Given the description of an element on the screen output the (x, y) to click on. 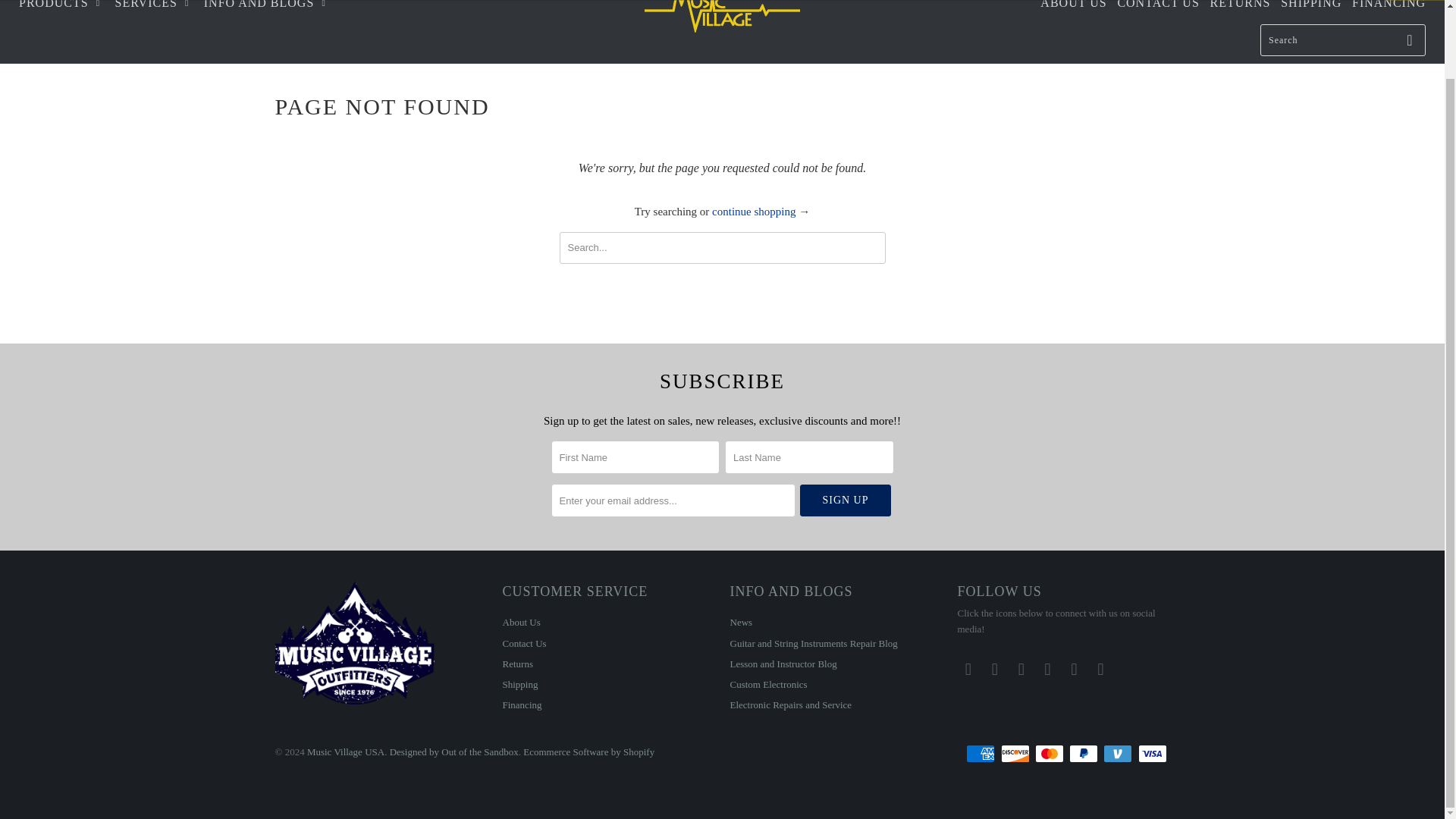
Sign Up (845, 500)
Music Village USA on Pinterest (1047, 669)
Music Village USA on YouTube (1021, 669)
Music Village USA on Instagram (1074, 669)
Music Village USA (722, 22)
Music Village USA on Twitter (967, 669)
Music Village USA on Facebook (995, 669)
Email Music Village USA (1100, 669)
